Given the description of an element on the screen output the (x, y) to click on. 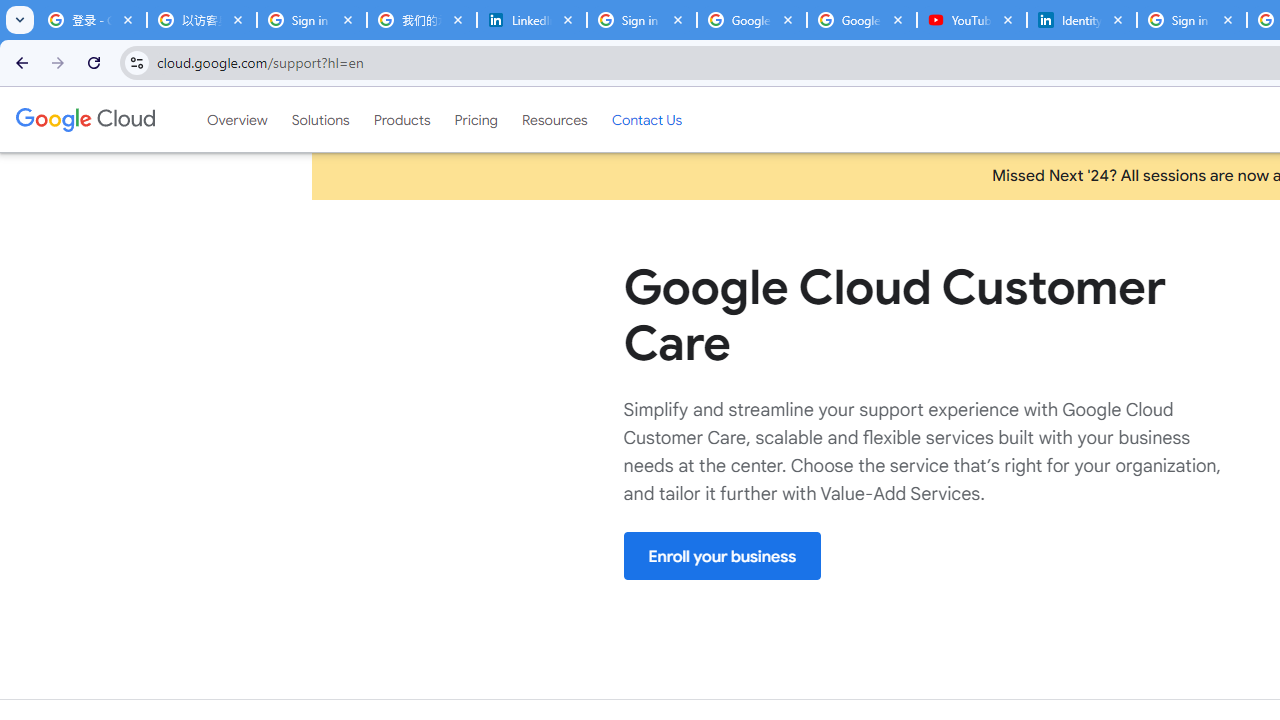
Sign in - Google Accounts (642, 20)
Sign in - Google Accounts (1191, 20)
LinkedIn Privacy Policy (532, 20)
Sign in - Google Accounts (312, 20)
Pricing (476, 119)
Products (401, 119)
